Given the description of an element on the screen output the (x, y) to click on. 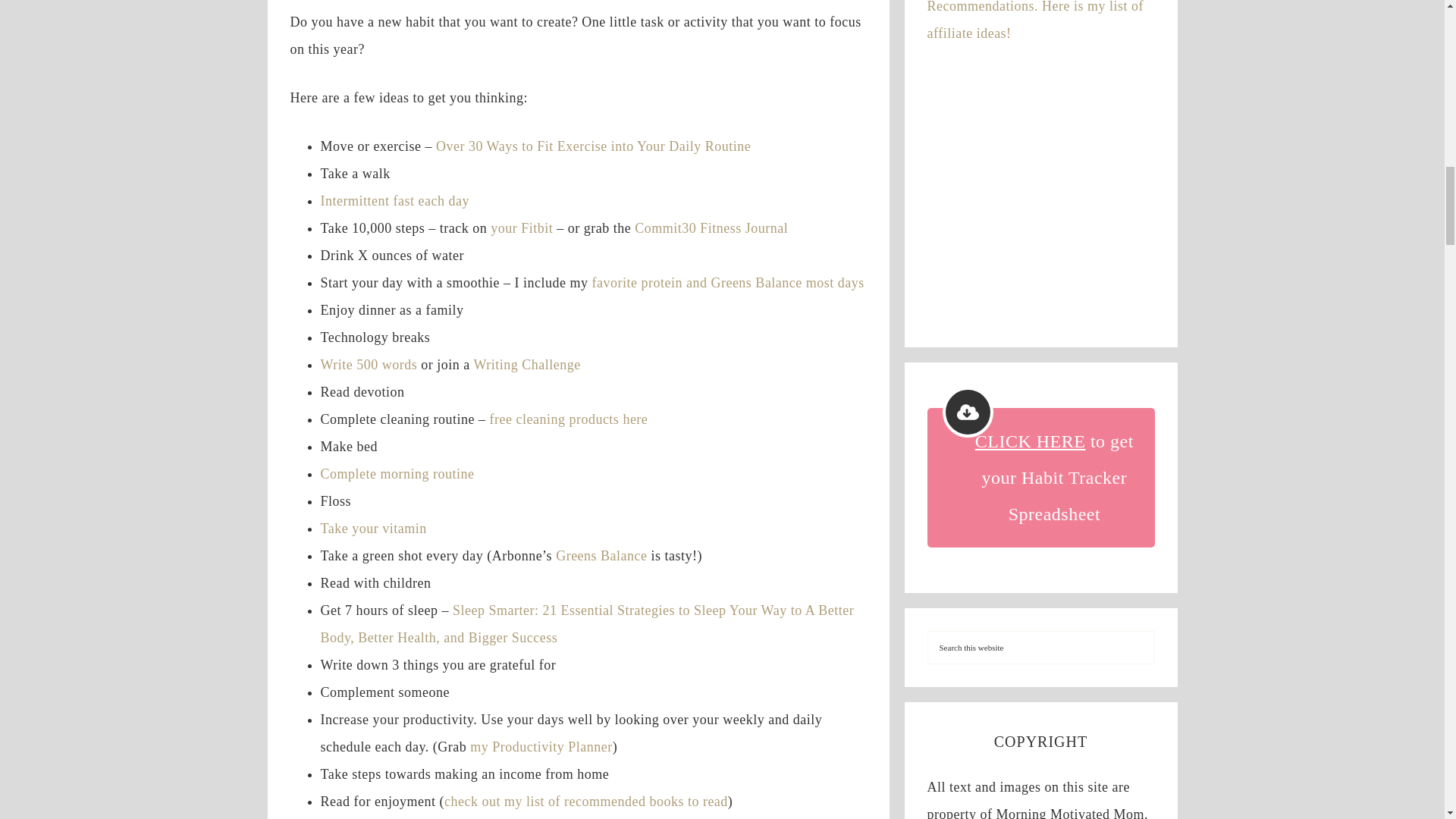
Over 30 Ways to Fit Exercise into Your Daily Routine (593, 145)
Intermittent fast each day (394, 200)
